Given the description of an element on the screen output the (x, y) to click on. 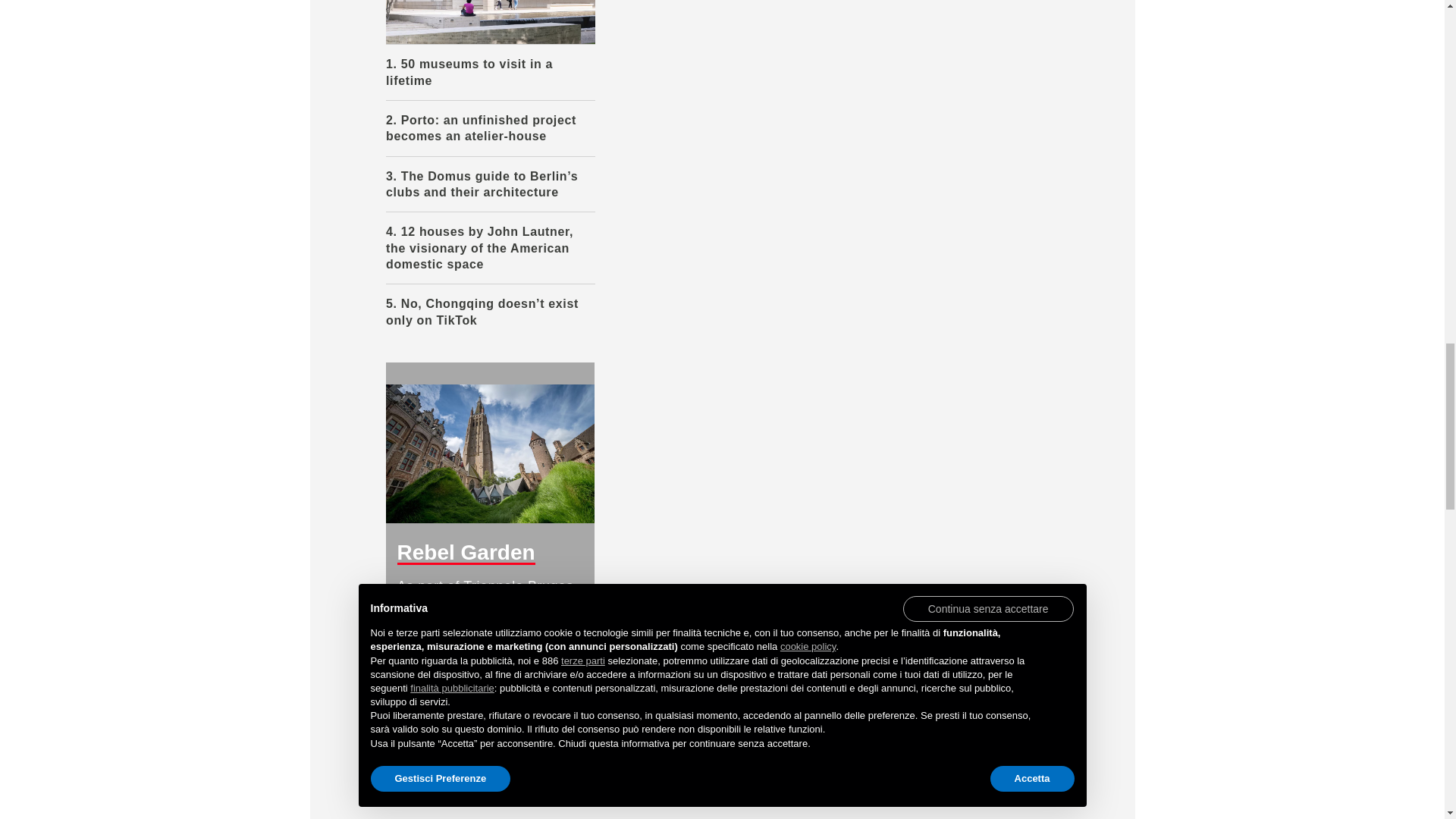
50 museums to visit in a lifetime (489, 22)
